Given the description of an element on the screen output the (x, y) to click on. 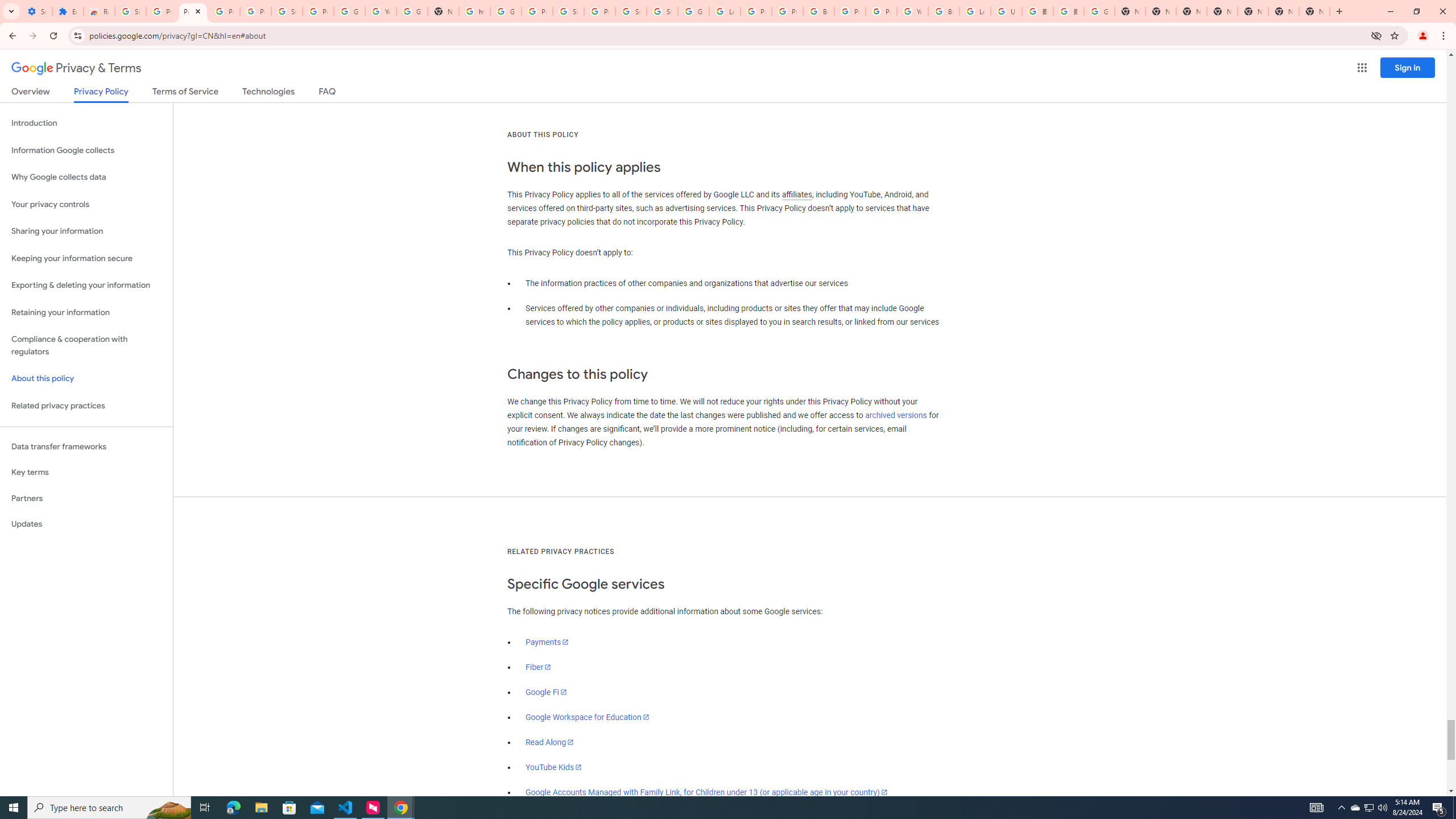
YouTube (912, 11)
Sharing your information (86, 230)
Information Google collects (86, 150)
